Given the description of an element on the screen output the (x, y) to click on. 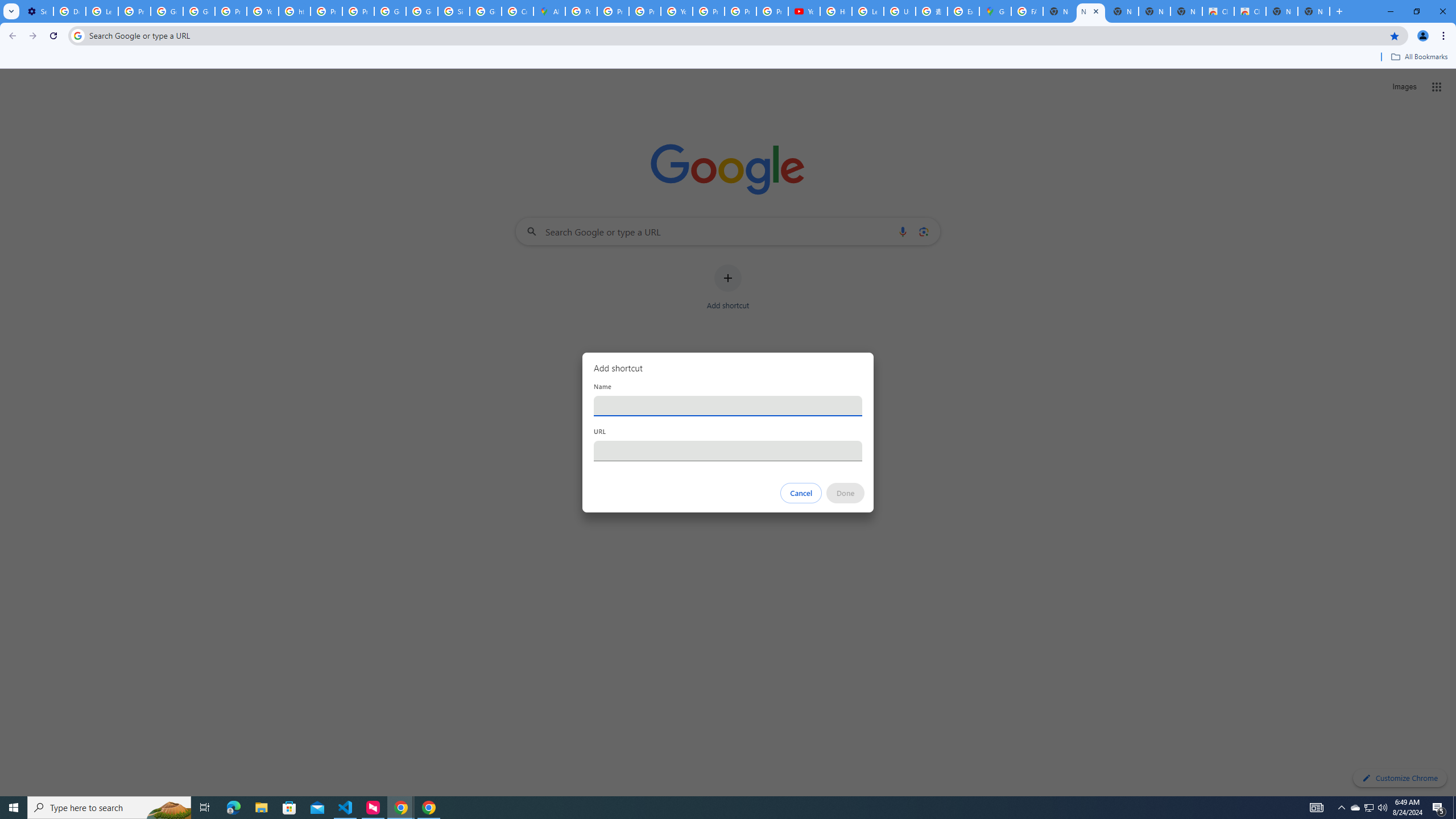
Privacy Help Center - Policies Help (326, 11)
Delete photos & videos - Computer - Google Photos Help (69, 11)
https://scholar.google.com/ (294, 11)
Sign in - Google Accounts (453, 11)
Policy Accountability and Transparency - Transparency Center (581, 11)
Privacy Checkup (740, 11)
